Given the description of an element on the screen output the (x, y) to click on. 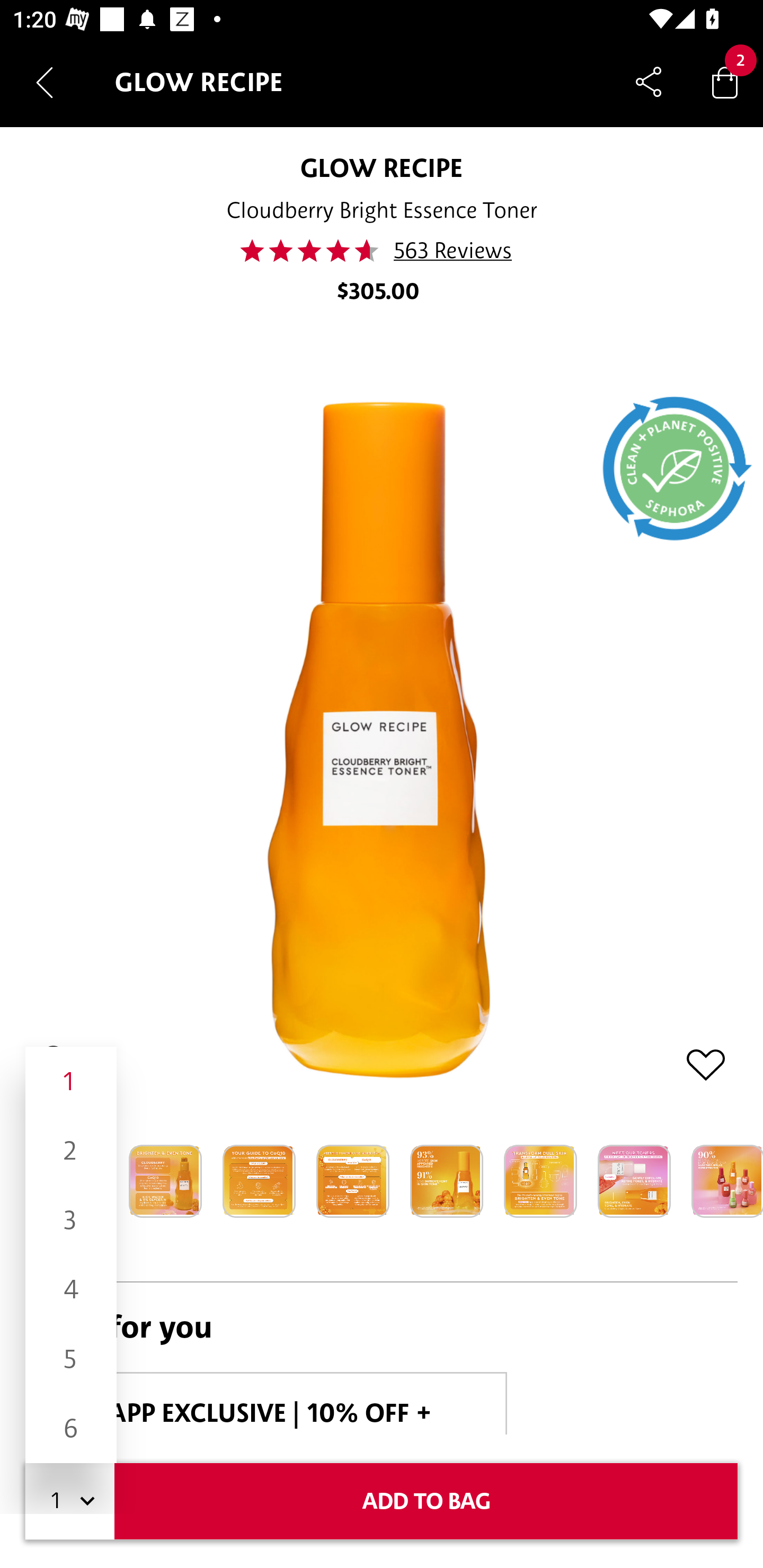
1 (70, 1081)
2 (70, 1150)
3 (70, 1219)
4 (70, 1289)
5 (70, 1358)
6 (70, 1427)
